Given the description of an element on the screen output the (x, y) to click on. 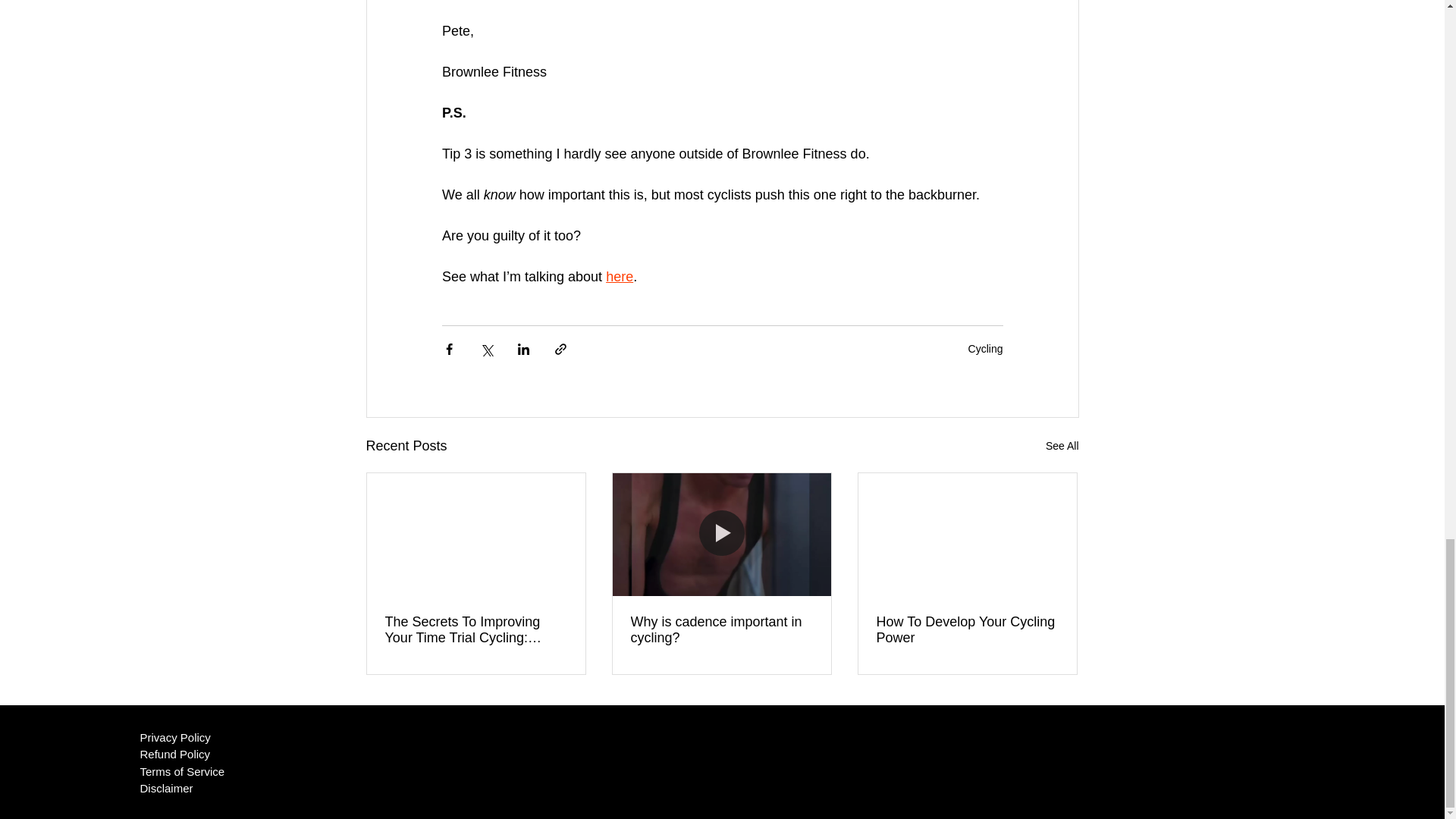
here (619, 276)
Cycling (985, 348)
See All (1061, 445)
